Given the description of an element on the screen output the (x, y) to click on. 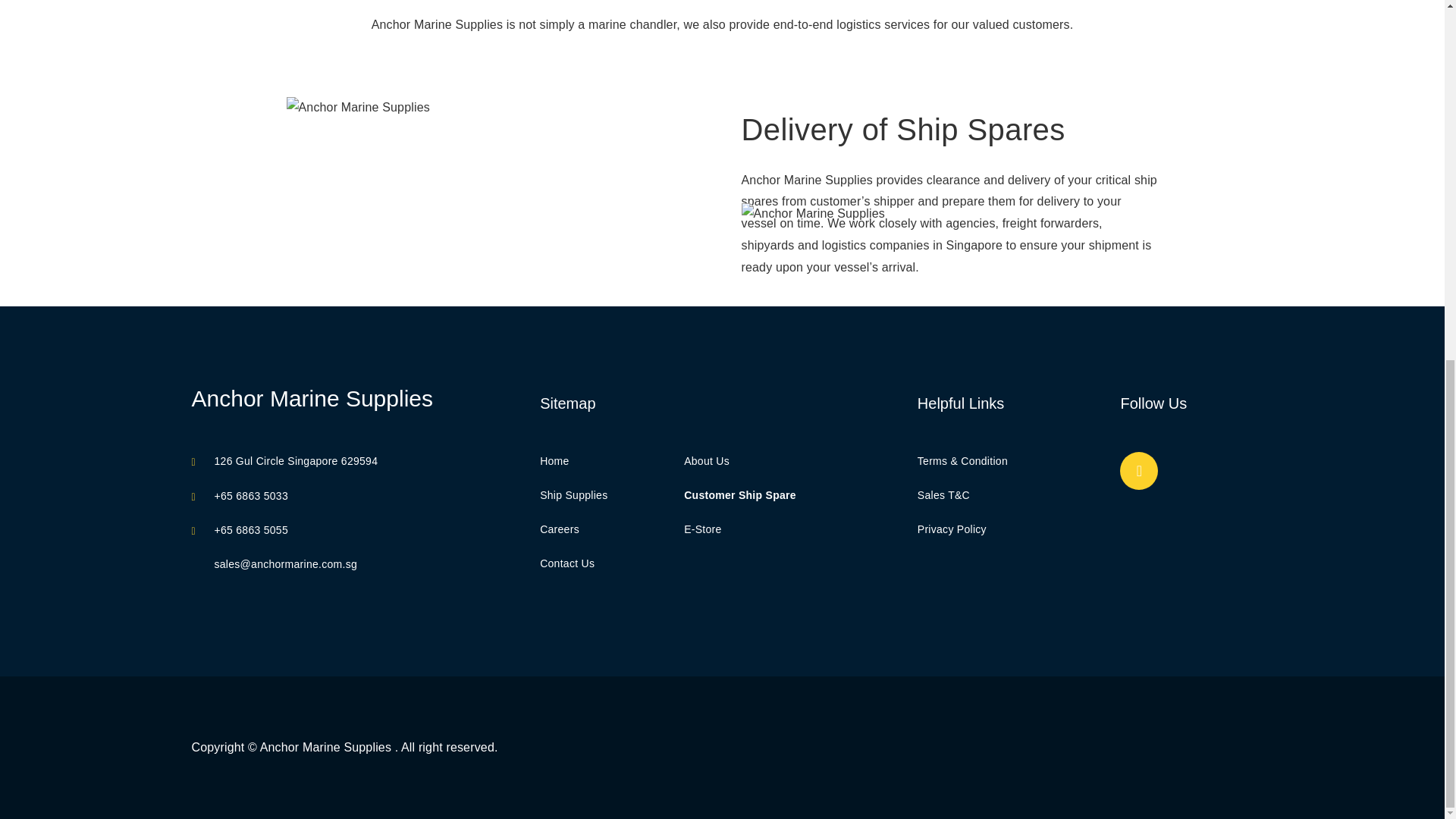
E-Store (702, 529)
Ship Supplies (573, 494)
ENQUIRE NOW (722, 737)
Contact Us (567, 563)
Customer Ship Spare (740, 494)
Home (554, 460)
Privacy Policy (952, 529)
Careers (559, 529)
About Us (706, 460)
